Given the description of an element on the screen output the (x, y) to click on. 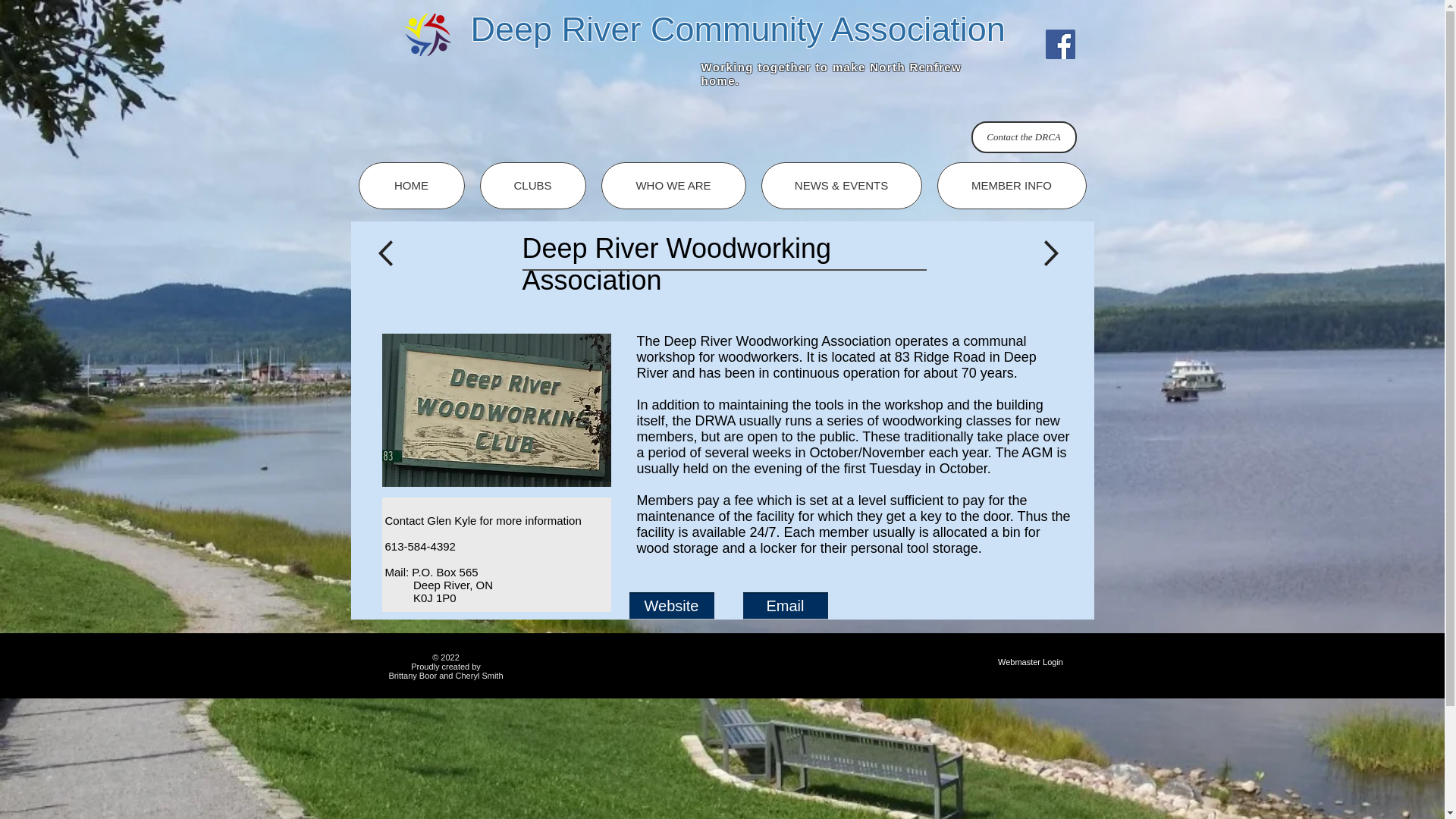
Email (785, 605)
Contact the DRCA (1023, 137)
Webmaster Login (1029, 662)
Website (671, 605)
HOME (411, 185)
